Given the description of an element on the screen output the (x, y) to click on. 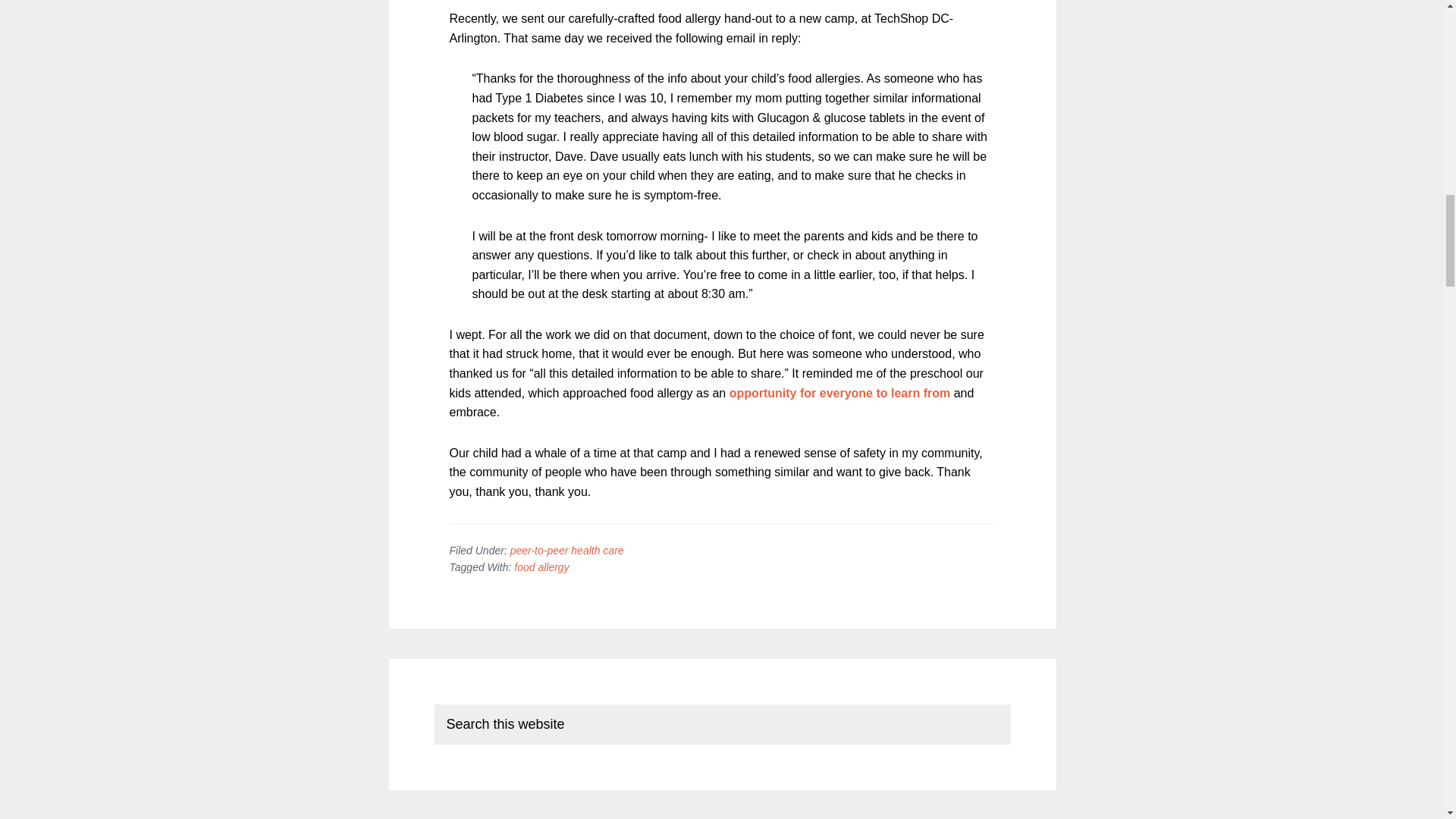
peer-to-peer health care (567, 550)
opportunity for everyone to learn from (839, 392)
food allergy (541, 567)
